Given the description of an element on the screen output the (x, y) to click on. 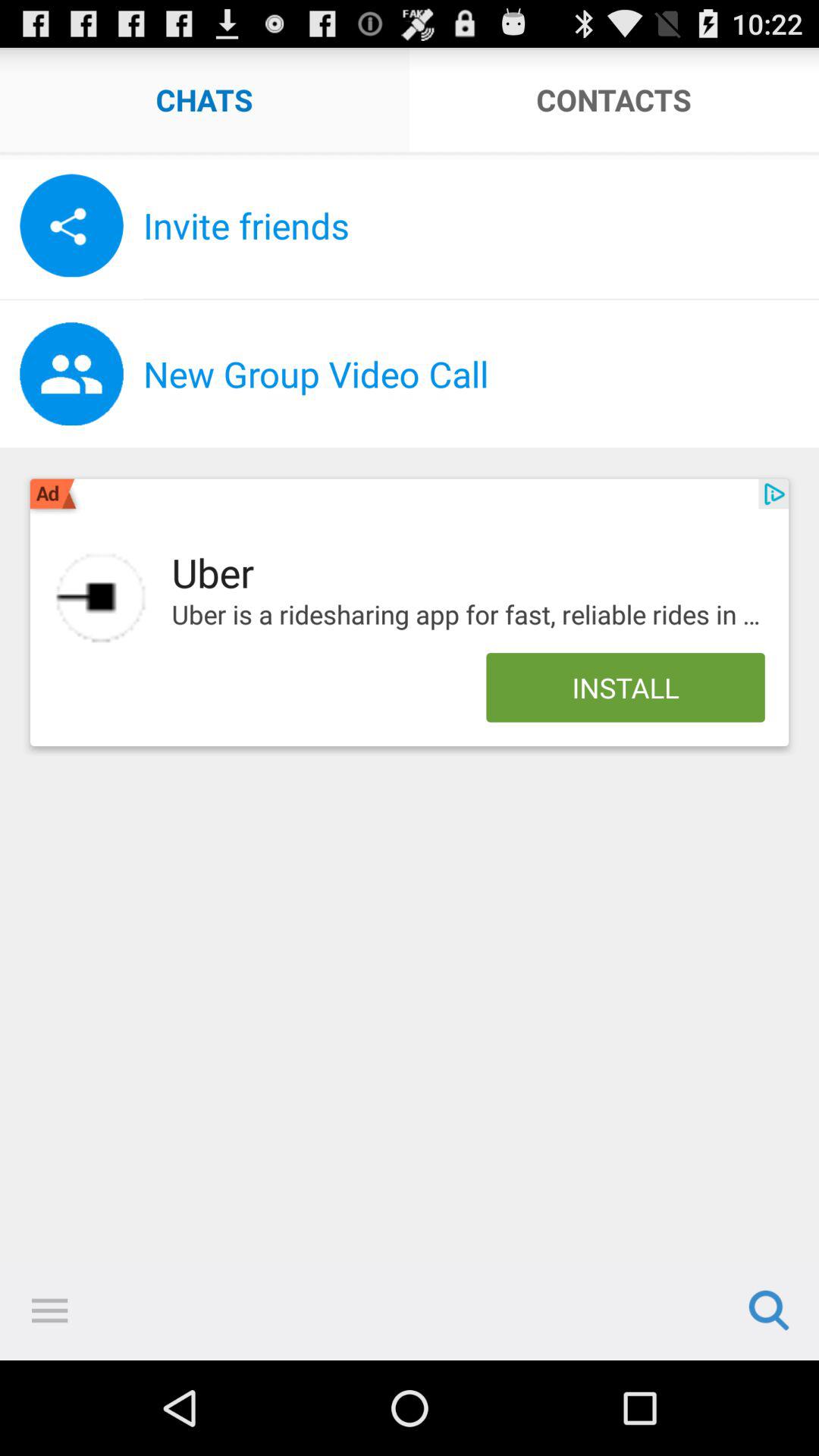
open the app below the new group video item (773, 493)
